Given the description of an element on the screen output the (x, y) to click on. 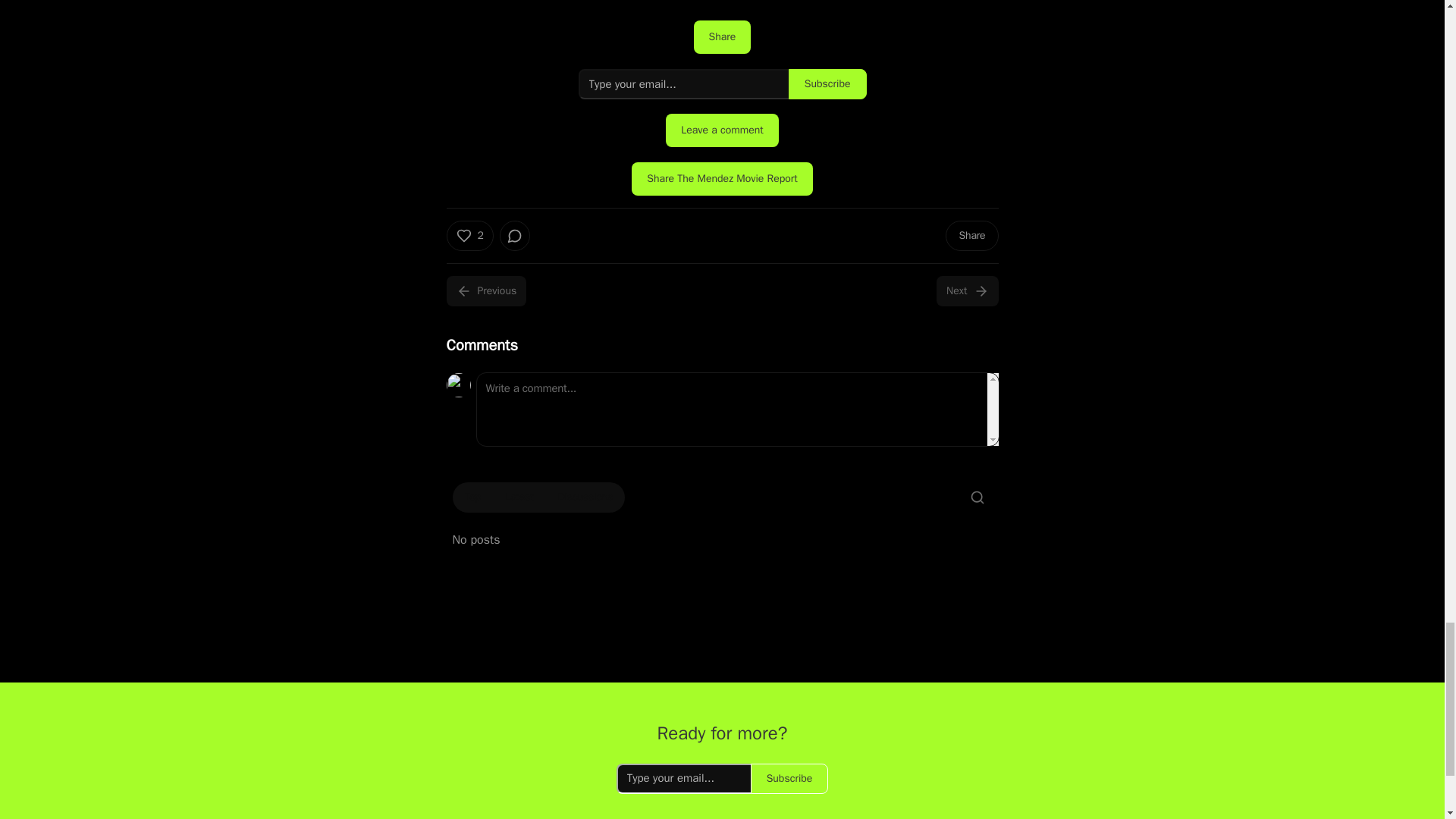
Share (970, 235)
Top (471, 497)
Share (722, 37)
Leave a comment (721, 130)
Share The Mendez Movie Report (721, 178)
Previous (485, 291)
Next (966, 291)
2 (469, 235)
Subscribe (827, 83)
